Given the description of an element on the screen output the (x, y) to click on. 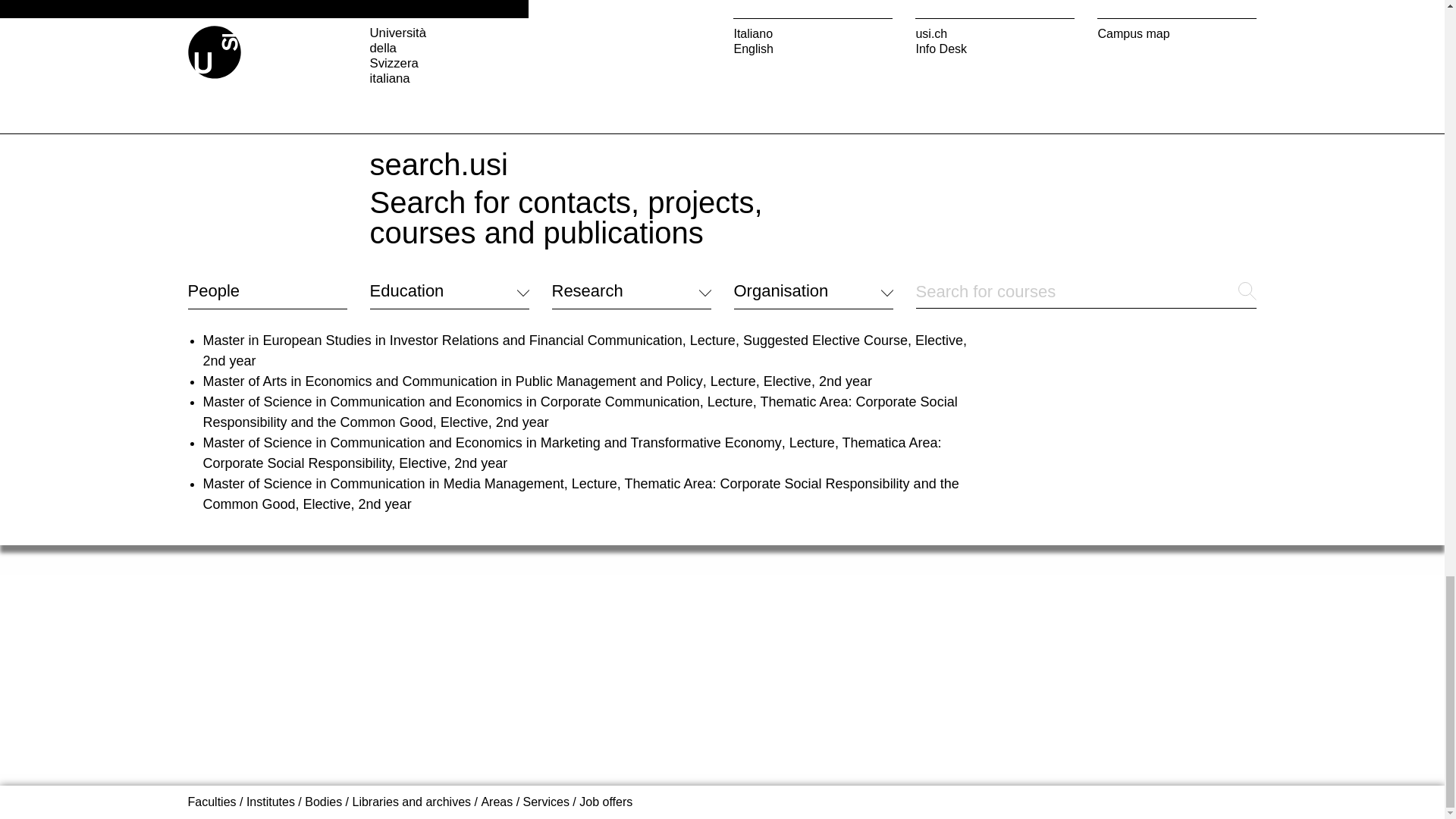
Master of Science in Communication in Media Management (383, 483)
